Given the description of an element on the screen output the (x, y) to click on. 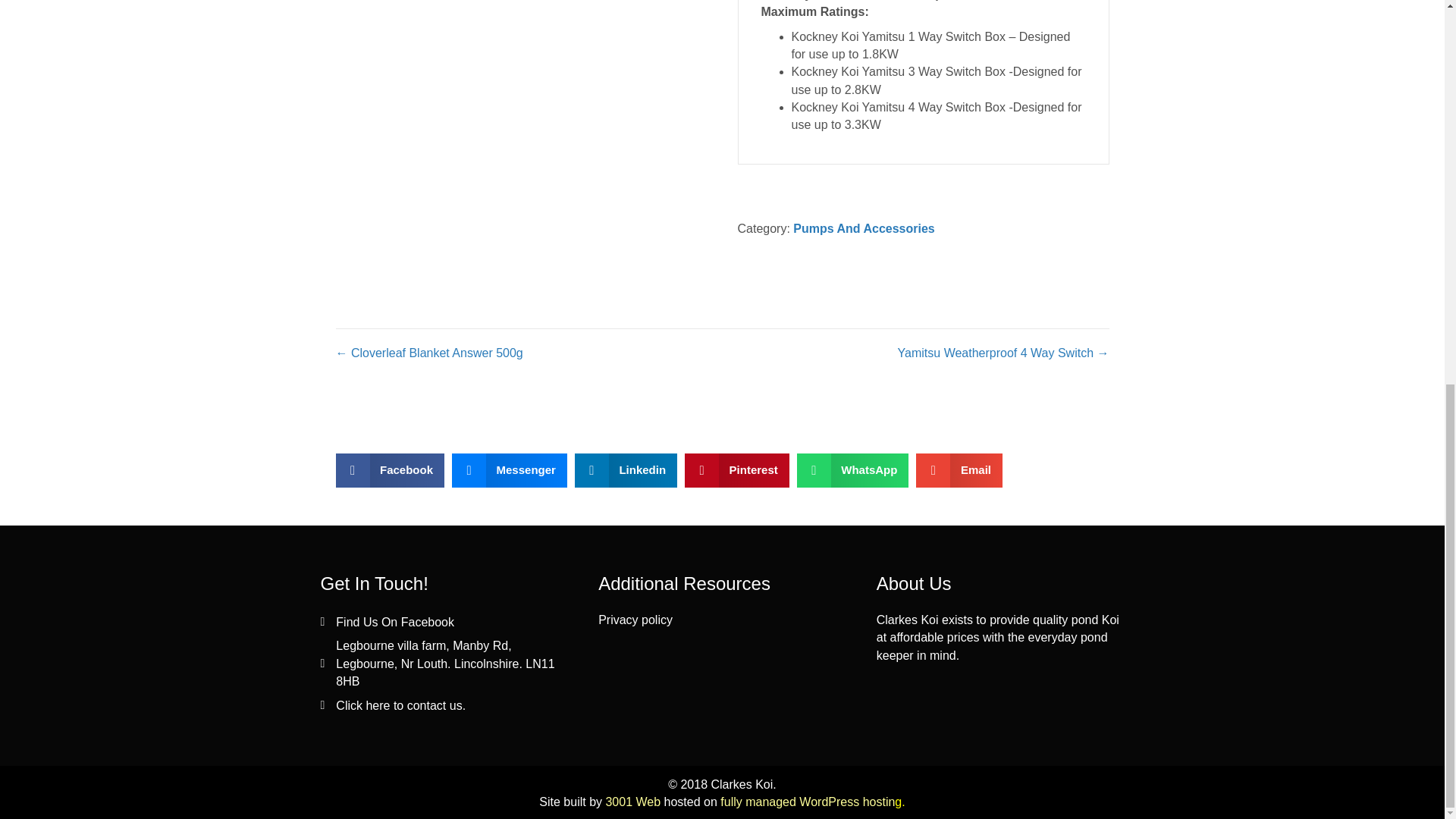
Email (959, 470)
Linkedin (626, 470)
Pinterest (736, 470)
Facebook (389, 470)
Pumps And Accessories (863, 228)
Messenger (509, 470)
Find Us On Facebook (395, 621)
WhatsApp (852, 470)
3001 Web (633, 801)
